Given the description of an element on the screen output the (x, y) to click on. 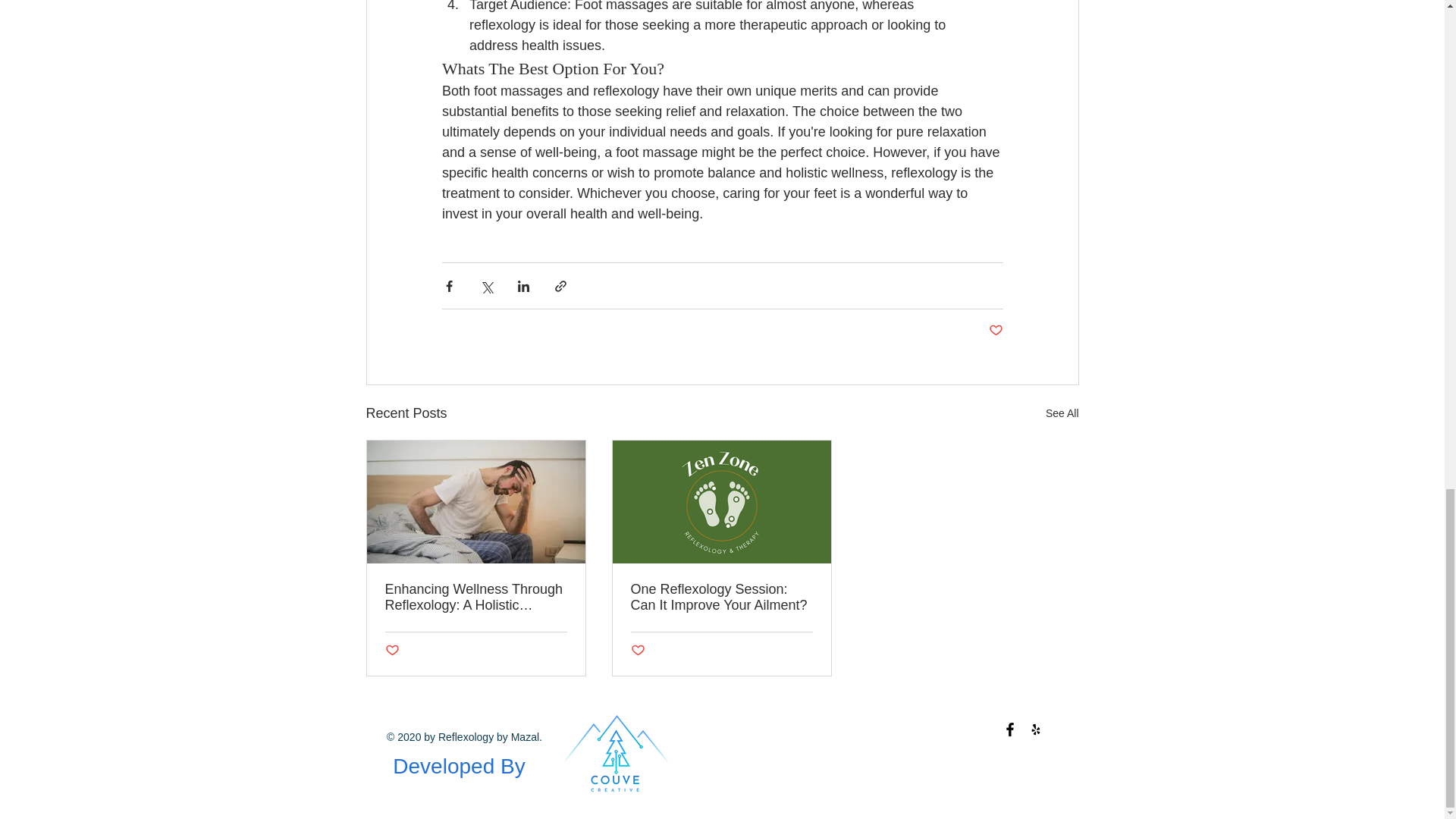
Post not marked as liked (995, 330)
Post not marked as liked (637, 650)
One Reflexology Session: Can It Improve Your Ailment? (721, 597)
See All (1061, 413)
Post not marked as liked (391, 650)
